Given the description of an element on the screen output the (x, y) to click on. 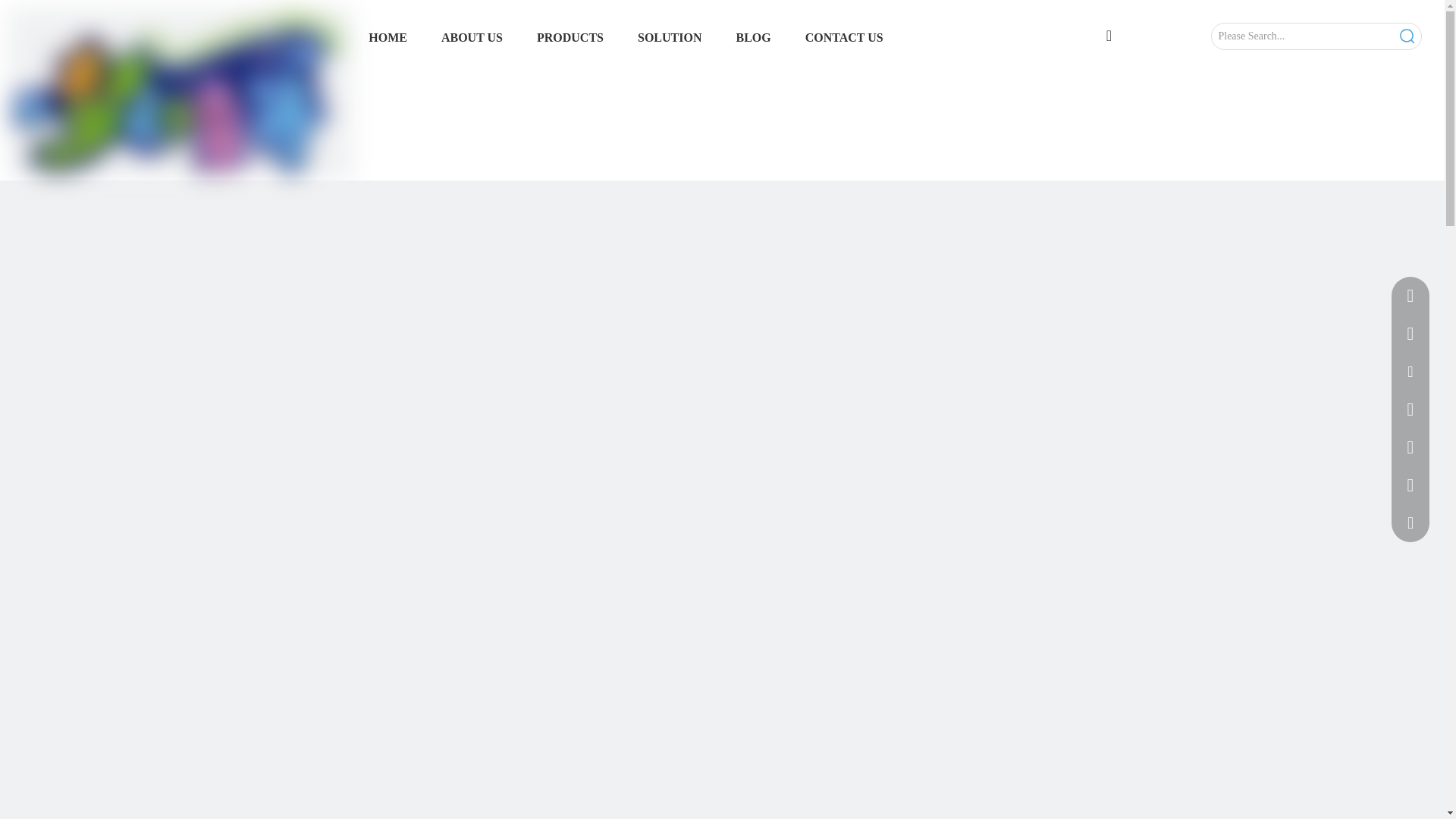
CONTACT US (844, 38)
SOLUTION (669, 38)
HOME (387, 38)
PRODUCTS (570, 38)
BLOG (752, 38)
ABOUT US (471, 38)
